Given the description of an element on the screen output the (x, y) to click on. 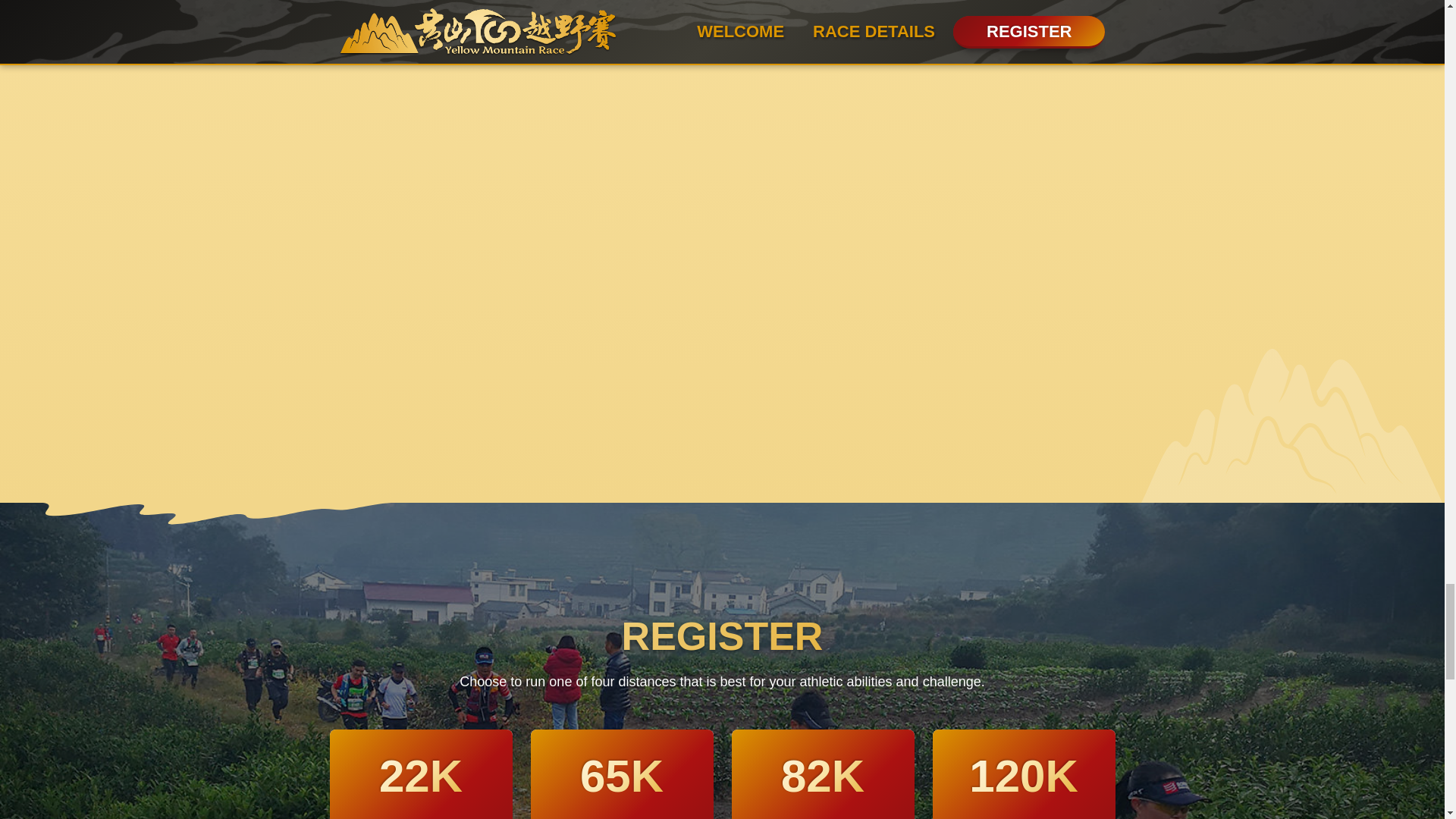
taipinglake100-50 (197, 191)
Yellow Mountain Race (197, 40)
